Given the description of an element on the screen output the (x, y) to click on. 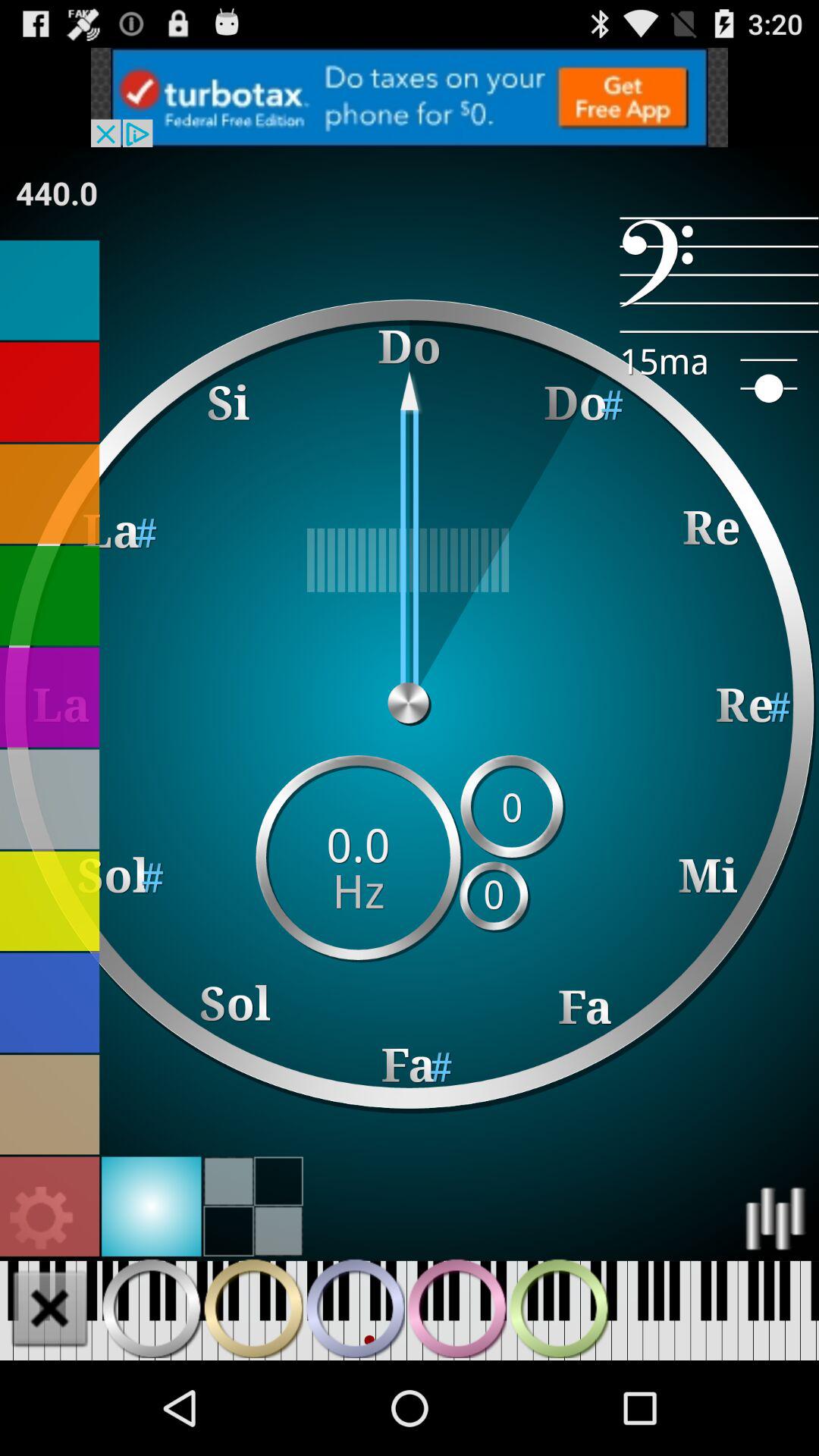
close keyboard (49, 1308)
